Given the description of an element on the screen output the (x, y) to click on. 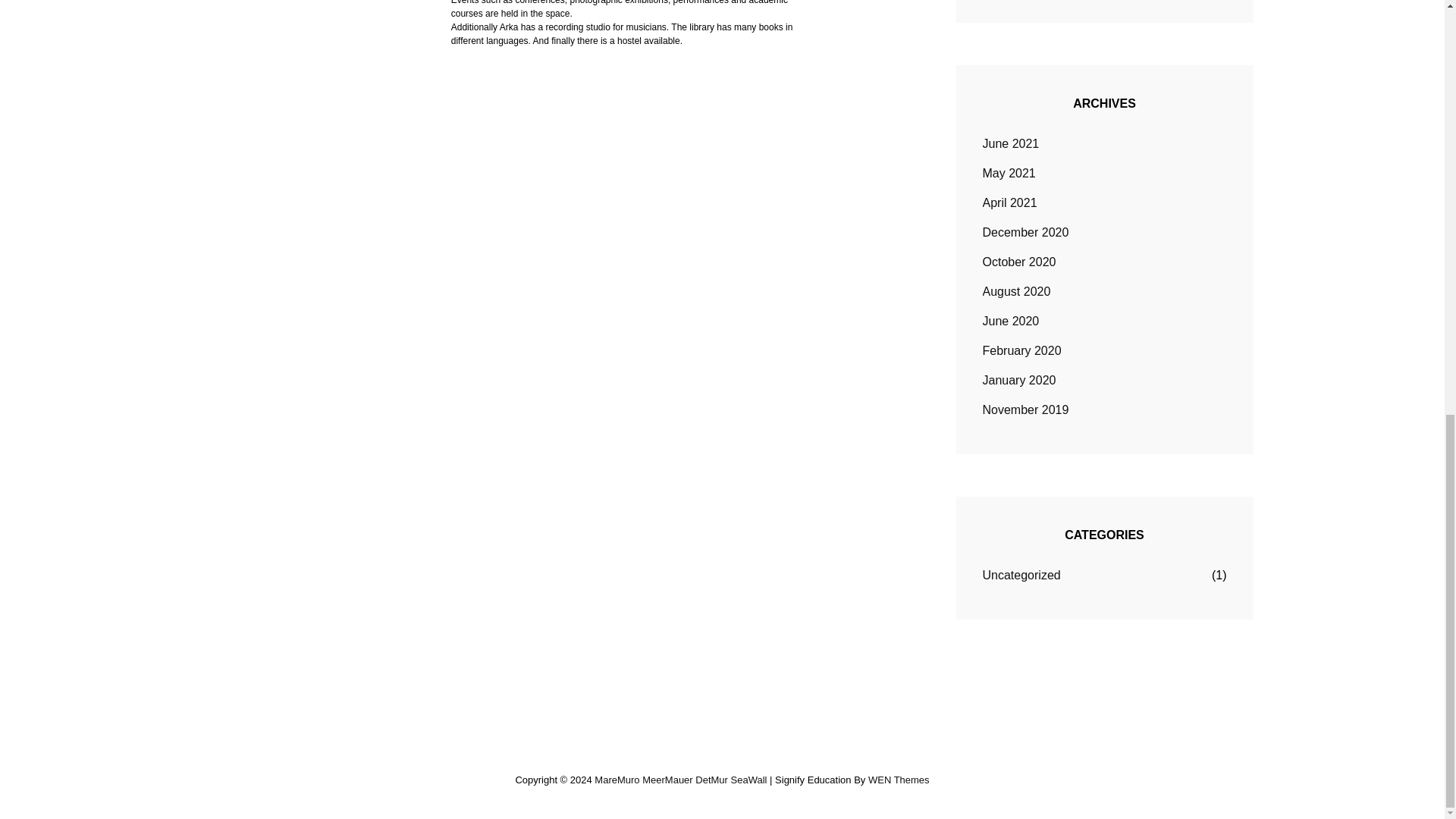
Uncategorized (1021, 575)
MareMuro MeerMauer DetMur SeaWall (680, 779)
August 2020 (1016, 291)
October 2020 (1019, 262)
WEN Themes (898, 779)
June 2021 (1010, 143)
December 2020 (1025, 232)
February 2020 (1021, 351)
November 2019 (1025, 410)
May 2021 (1008, 173)
